Given the description of an element on the screen output the (x, y) to click on. 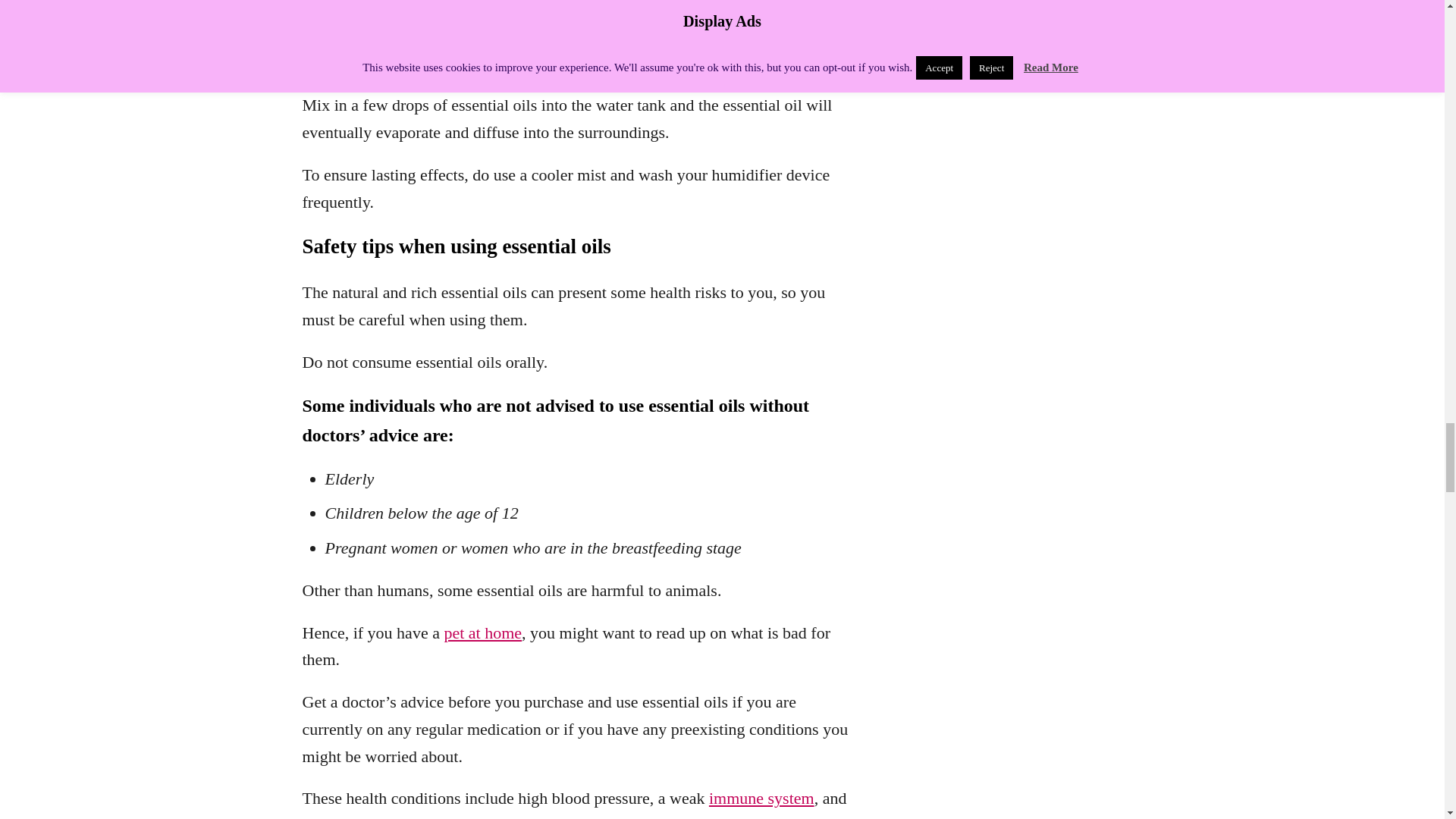
immune system (761, 797)
pet at home (482, 632)
